Given the description of an element on the screen output the (x, y) to click on. 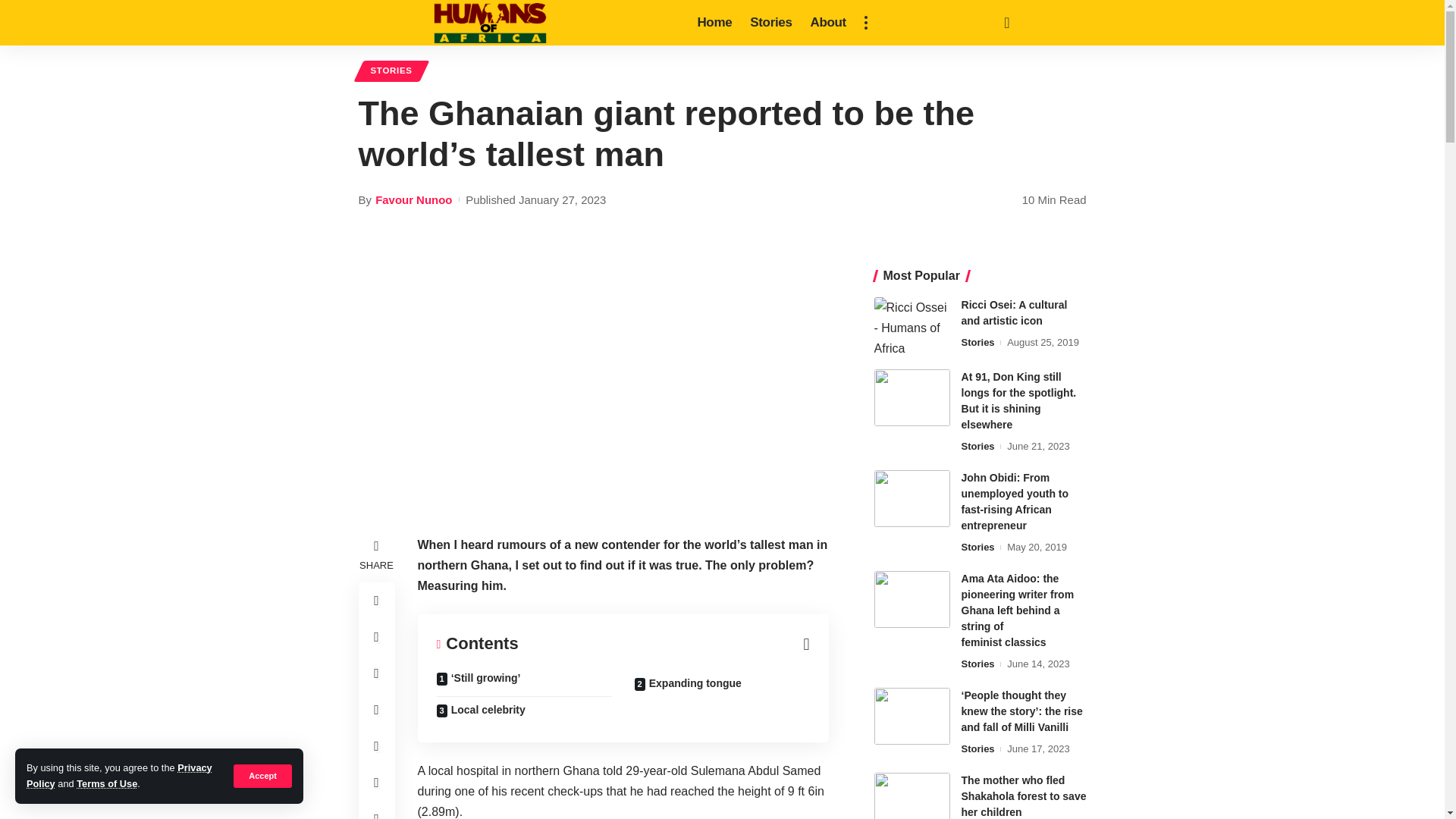
Home (714, 22)
Favour Nunoo (413, 198)
Terms of Use (106, 783)
Stories (770, 22)
The mother who fled Shakahola forest to save her children (912, 796)
STORIES (390, 70)
Expanding tongue (722, 683)
Humans of Africa (489, 22)
